Given the description of an element on the screen output the (x, y) to click on. 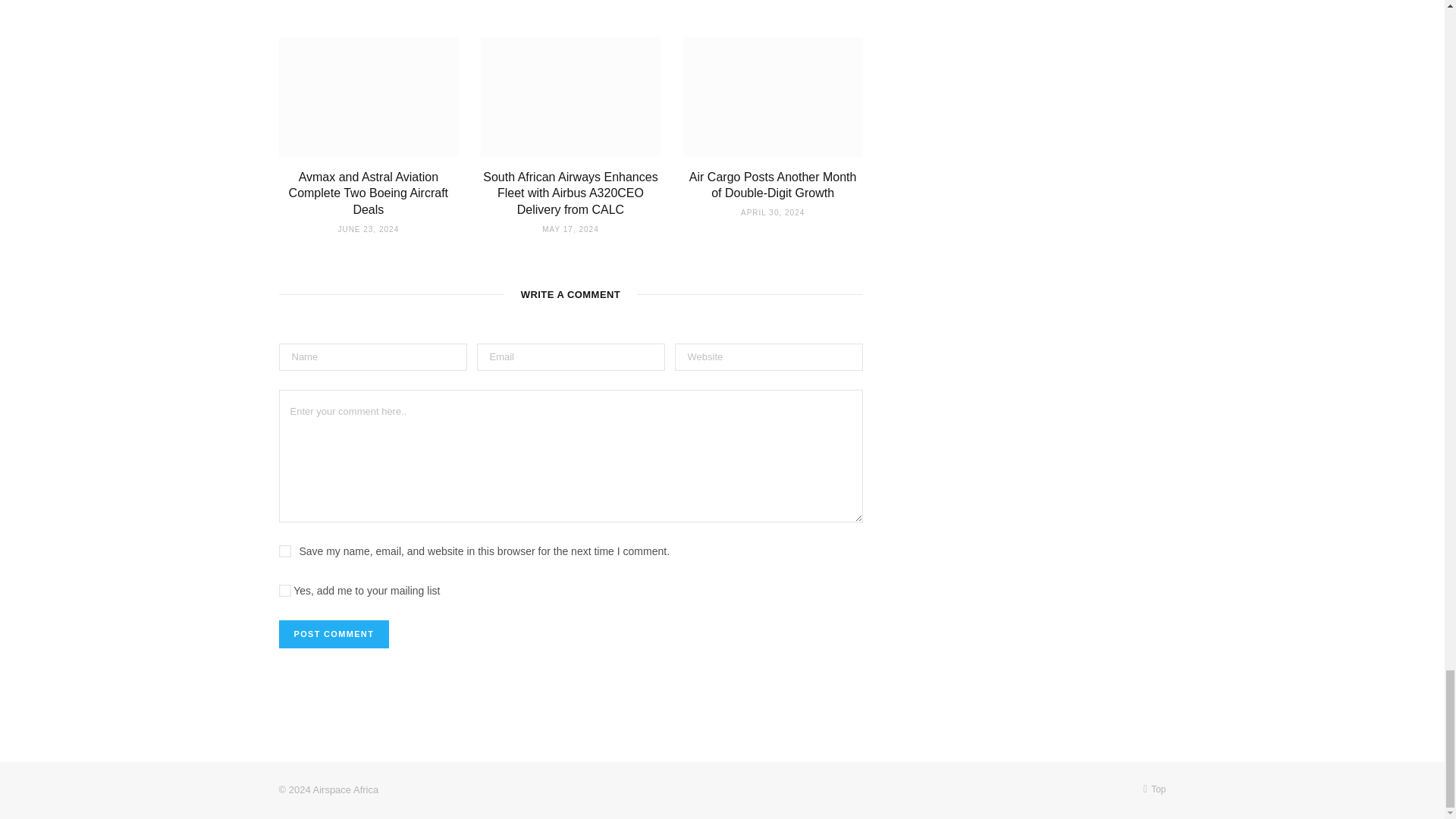
1 (285, 590)
Post Comment (334, 633)
yes (285, 551)
